Given the description of an element on the screen output the (x, y) to click on. 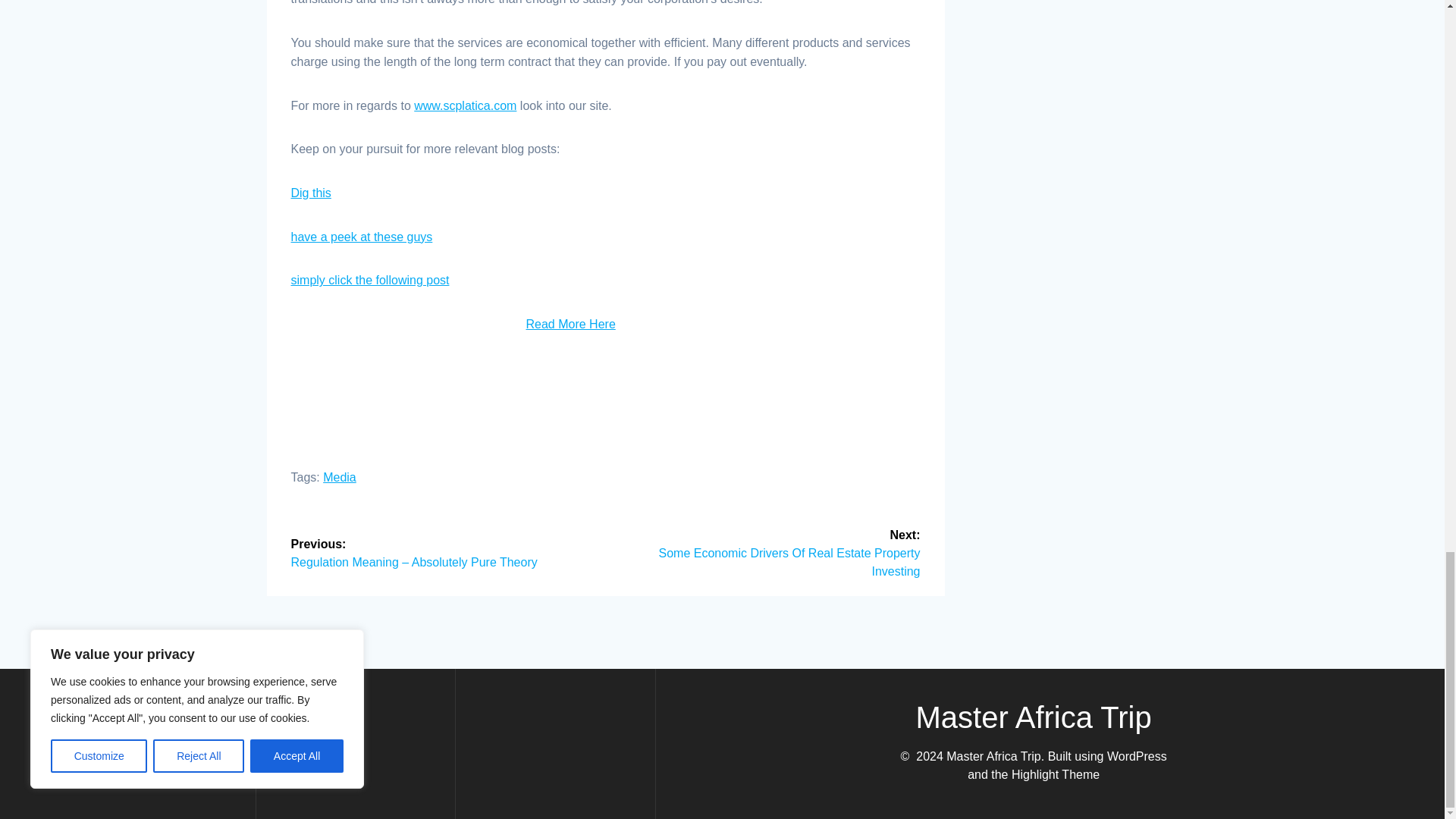
www.scplatica.com (464, 105)
simply click the following post (370, 279)
Media (339, 477)
Read More Here (570, 323)
have a peek at these guys (361, 236)
Dig this (311, 192)
